Given the description of an element on the screen output the (x, y) to click on. 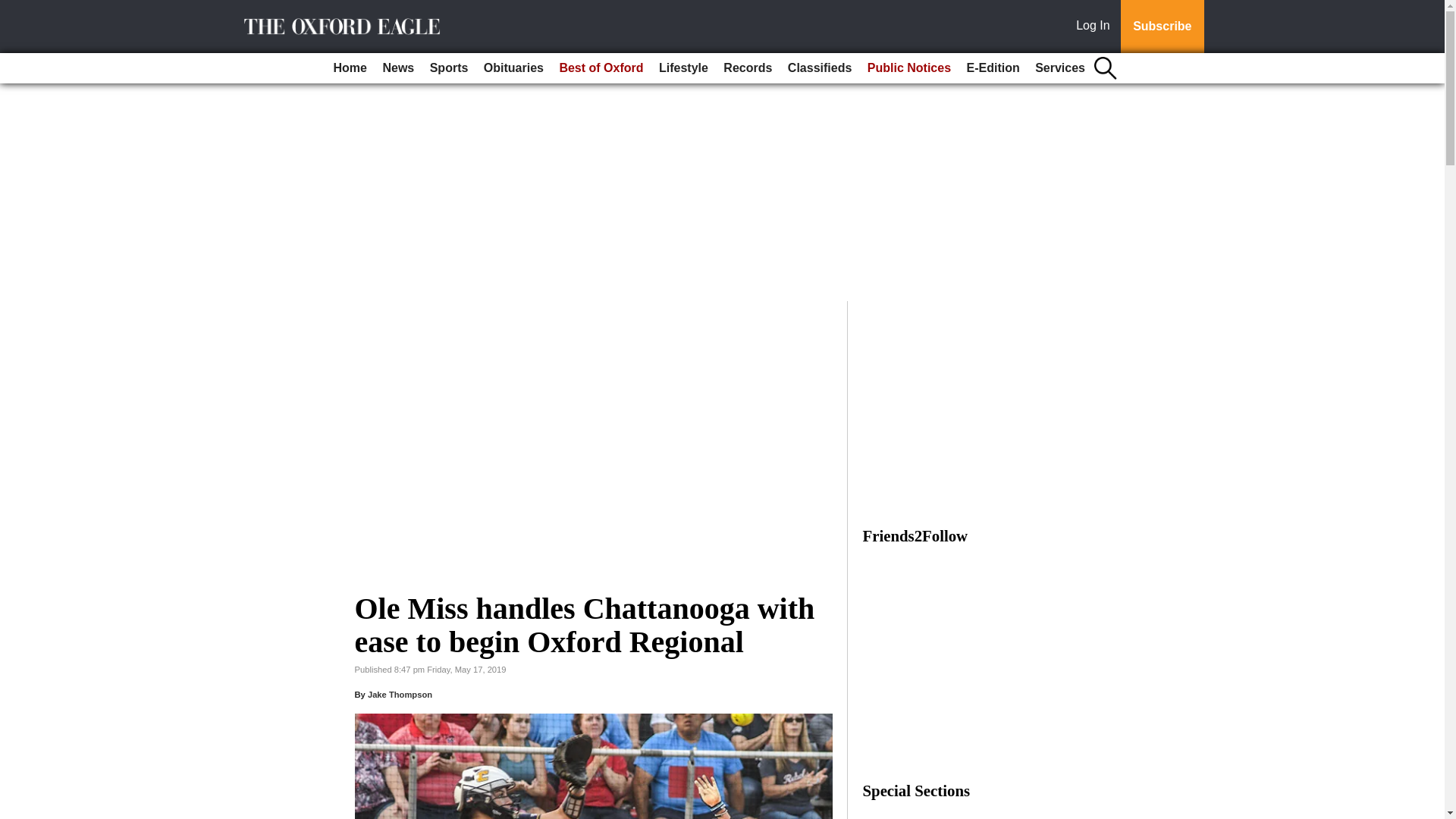
Jake Thompson (400, 694)
Sports (448, 68)
Go (13, 9)
Home (349, 68)
Subscribe (1162, 26)
E-Edition (992, 68)
Records (747, 68)
Classifieds (819, 68)
Services (1059, 68)
Best of Oxford (601, 68)
News (397, 68)
Lifestyle (683, 68)
Obituaries (513, 68)
Log In (1095, 26)
Public Notices (908, 68)
